Given the description of an element on the screen output the (x, y) to click on. 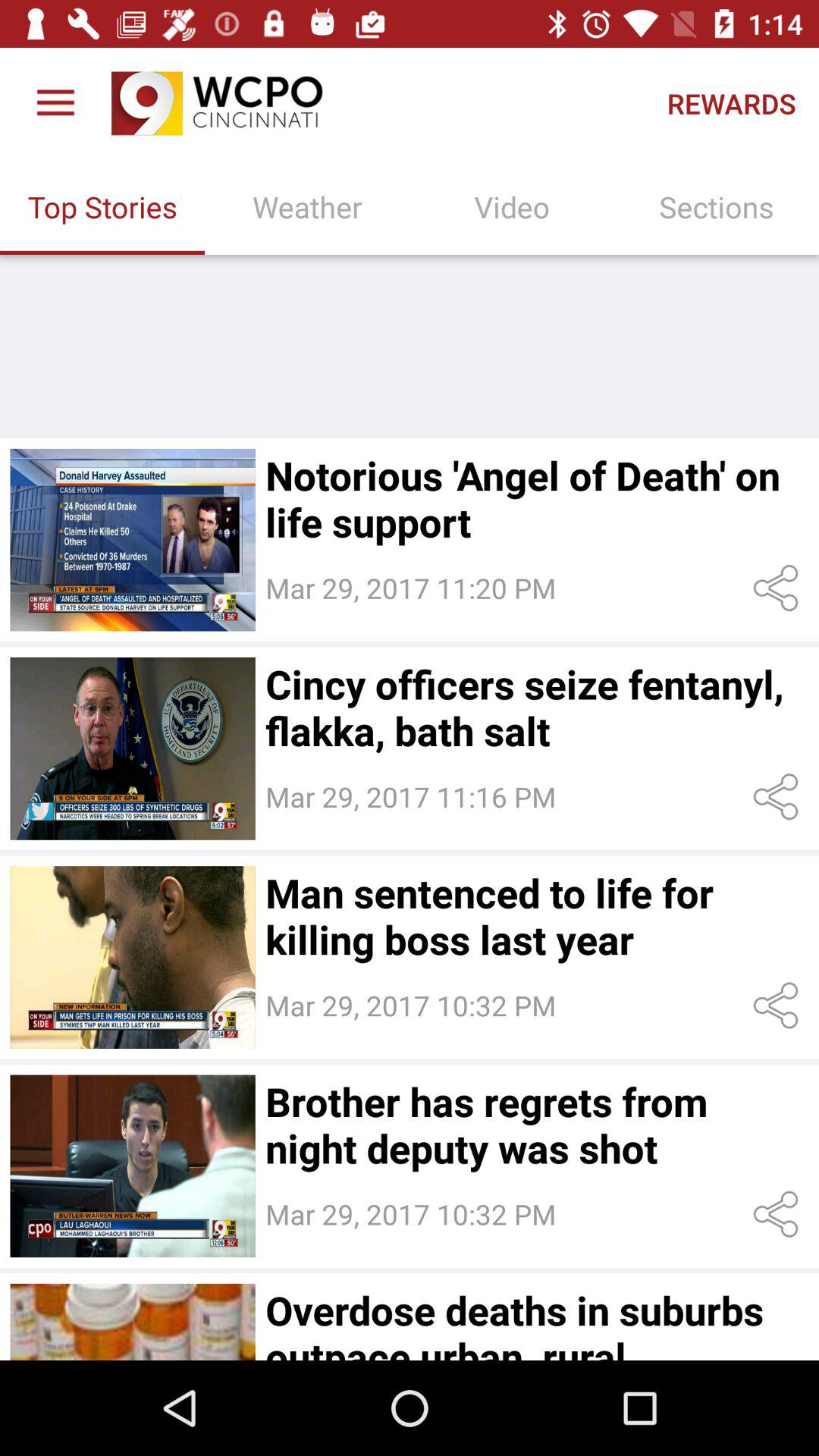
share the story (778, 796)
